Given the description of an element on the screen output the (x, y) to click on. 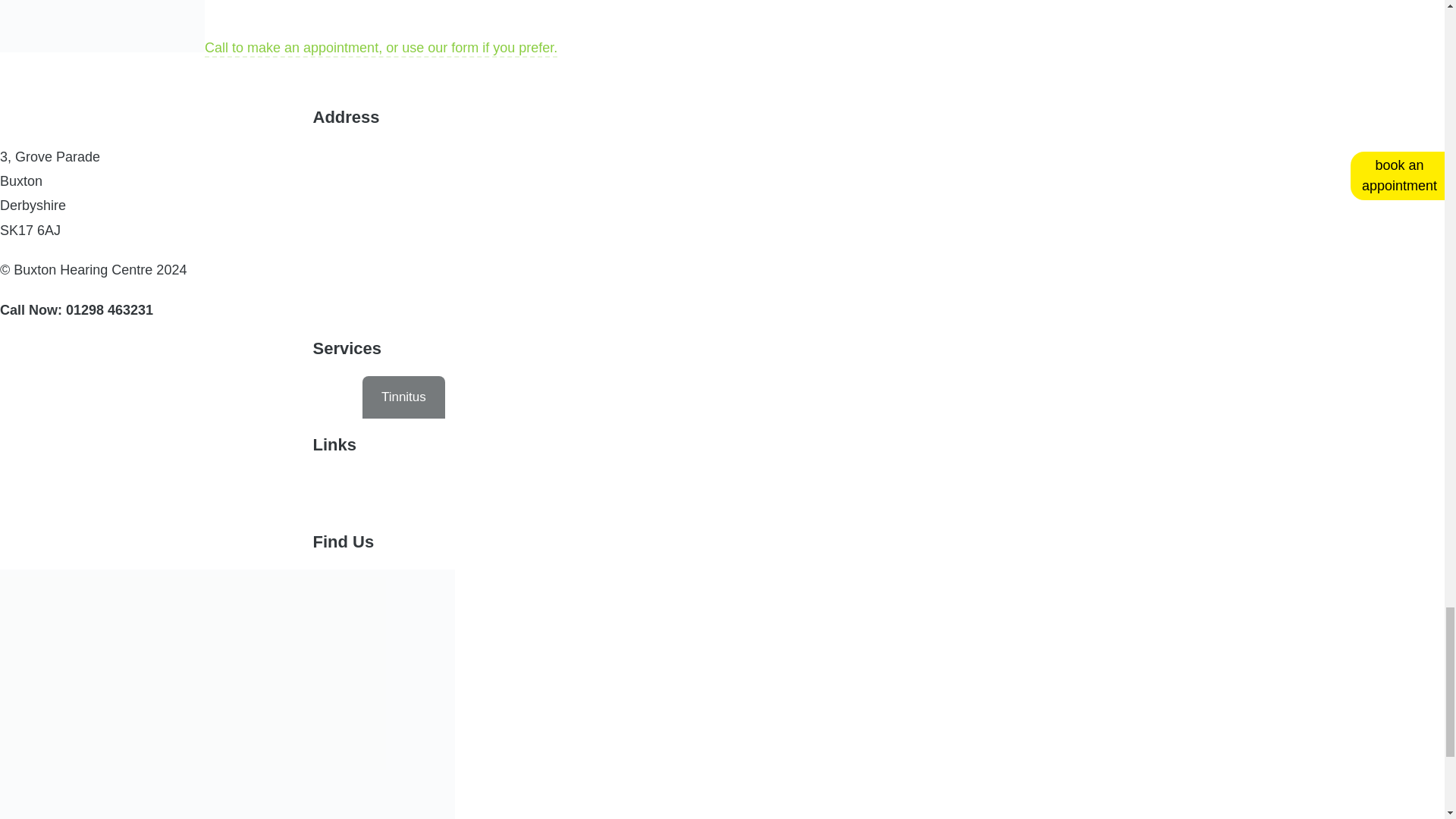
Ear Wax Removal (70, 397)
Privacy Policy (465, 493)
Tinnitus (403, 397)
About (118, 493)
Hearing Test (306, 397)
Areas We Serve (219, 493)
Assistive Listening Devices (542, 397)
Noise Protection (705, 397)
Hearing Aids (196, 397)
Contact (41, 493)
Site Map (568, 493)
Privacy Notice (345, 493)
